Given the description of an element on the screen output the (x, y) to click on. 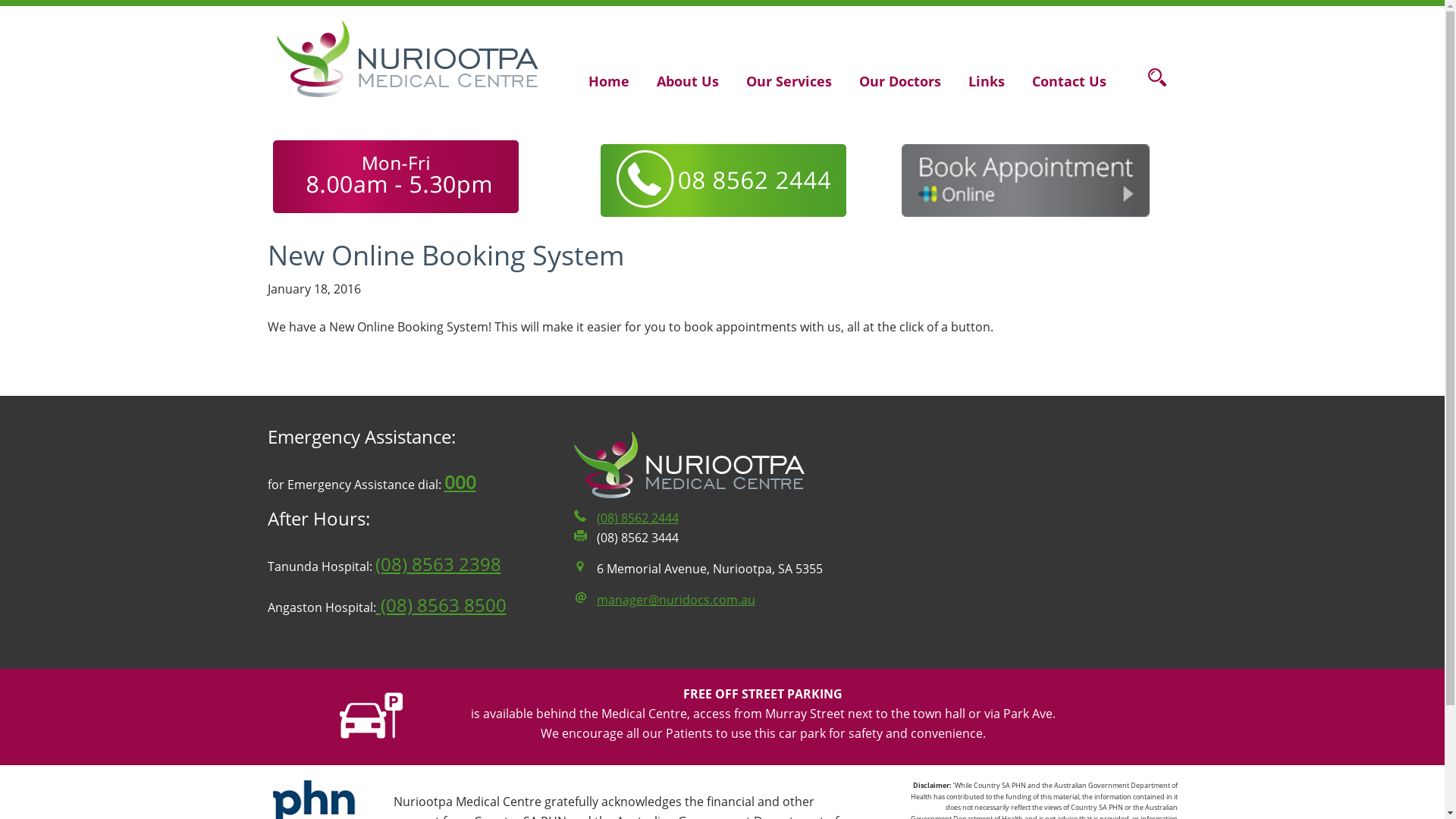
Nuriootpa Medical Element type: text (407, 59)
manager@nuridocs.com.au Element type: text (675, 599)
Home Element type: text (607, 77)
About Us Element type: text (687, 77)
000 Element type: text (460, 481)
(08) 8563 8500 Element type: text (441, 604)
(08) 8562 2444 Element type: text (636, 517)
(08) 8563 2398 Element type: text (437, 563)
Our Doctors Element type: text (899, 77)
Our Services Element type: text (787, 77)
Links Element type: text (986, 77)
Contact Us Element type: text (1069, 77)
